Given the description of an element on the screen output the (x, y) to click on. 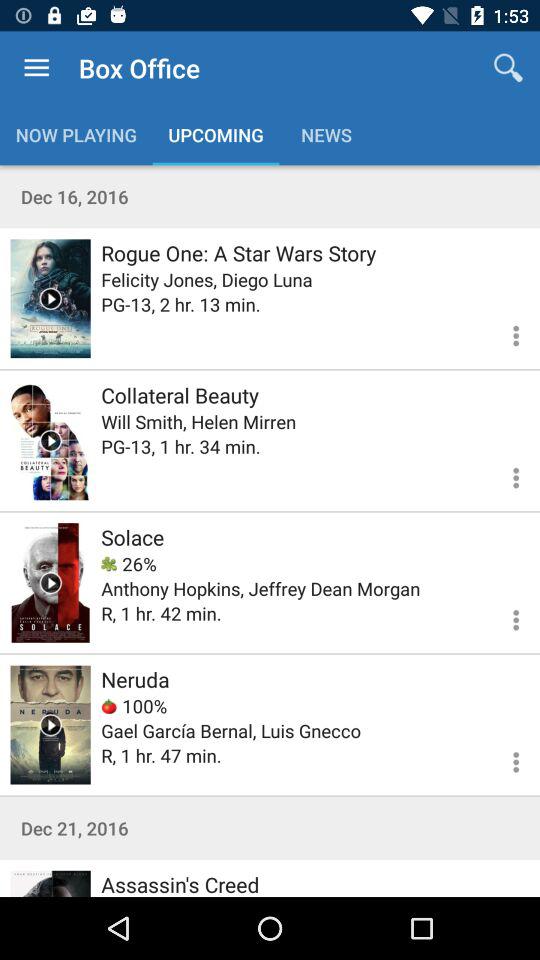
look at options for this movie (503, 475)
